Given the description of an element on the screen output the (x, y) to click on. 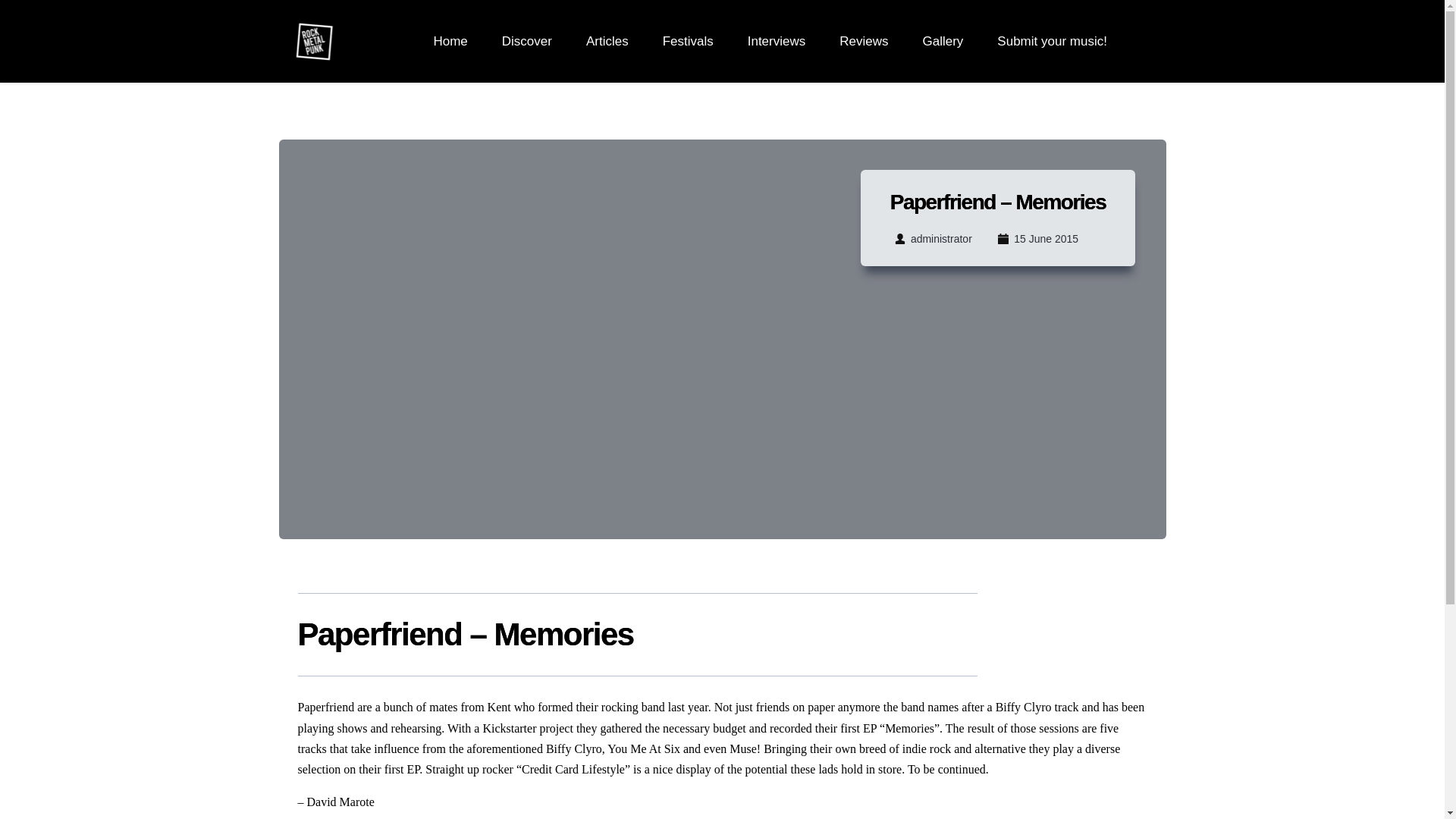
Interviews (777, 41)
Submit your music! (1051, 41)
Discover (526, 41)
Articles (607, 41)
Home (449, 41)
Gallery (941, 41)
Reviews (864, 41)
Festivals (687, 41)
